Given the description of an element on the screen output the (x, y) to click on. 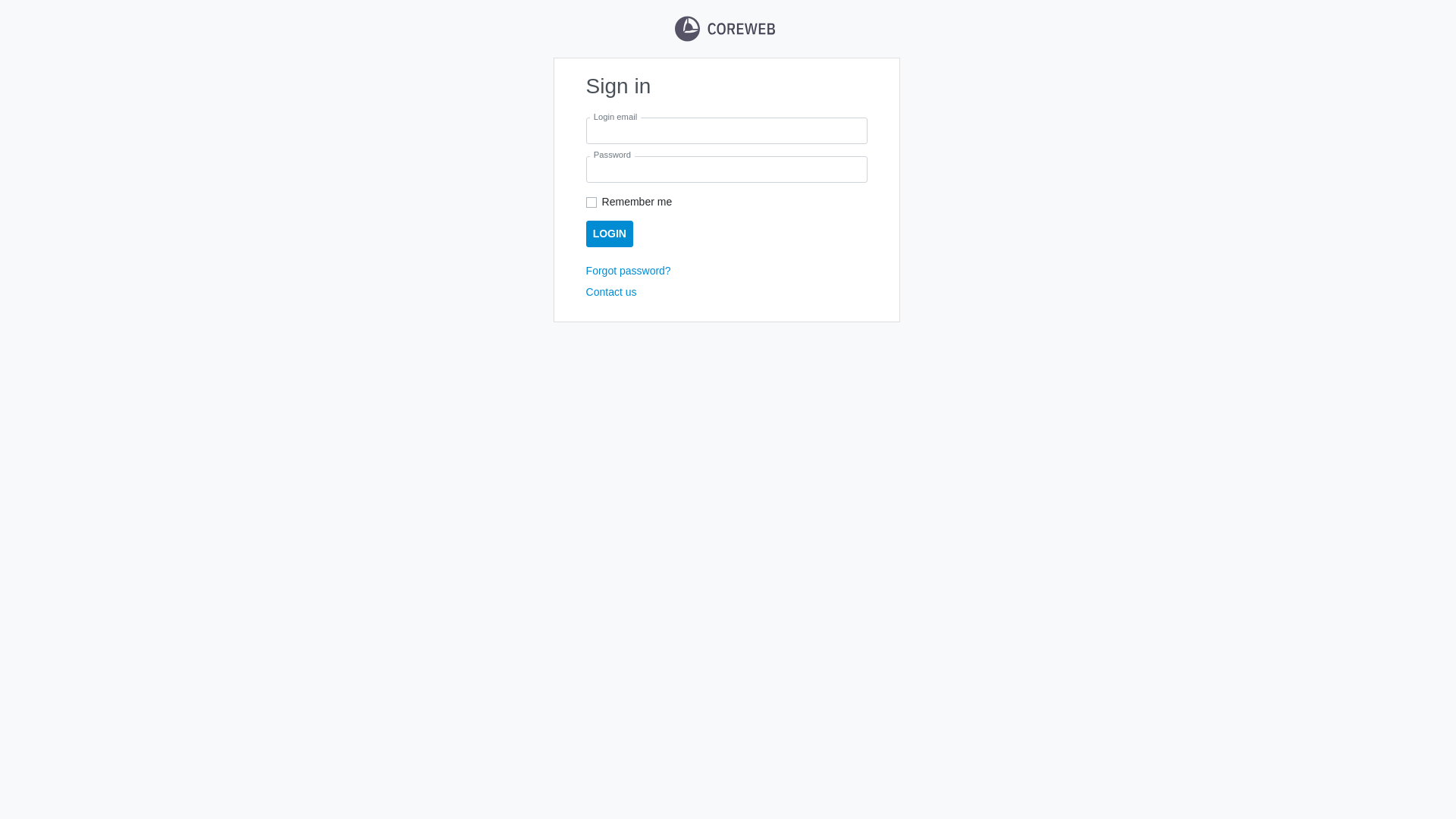
Contact us Element type: text (611, 291)
LOGIN Element type: text (609, 233)
Core Web Systems Element type: hover (724, 28)
Forgot password? Element type: text (628, 270)
